Given the description of an element on the screen output the (x, y) to click on. 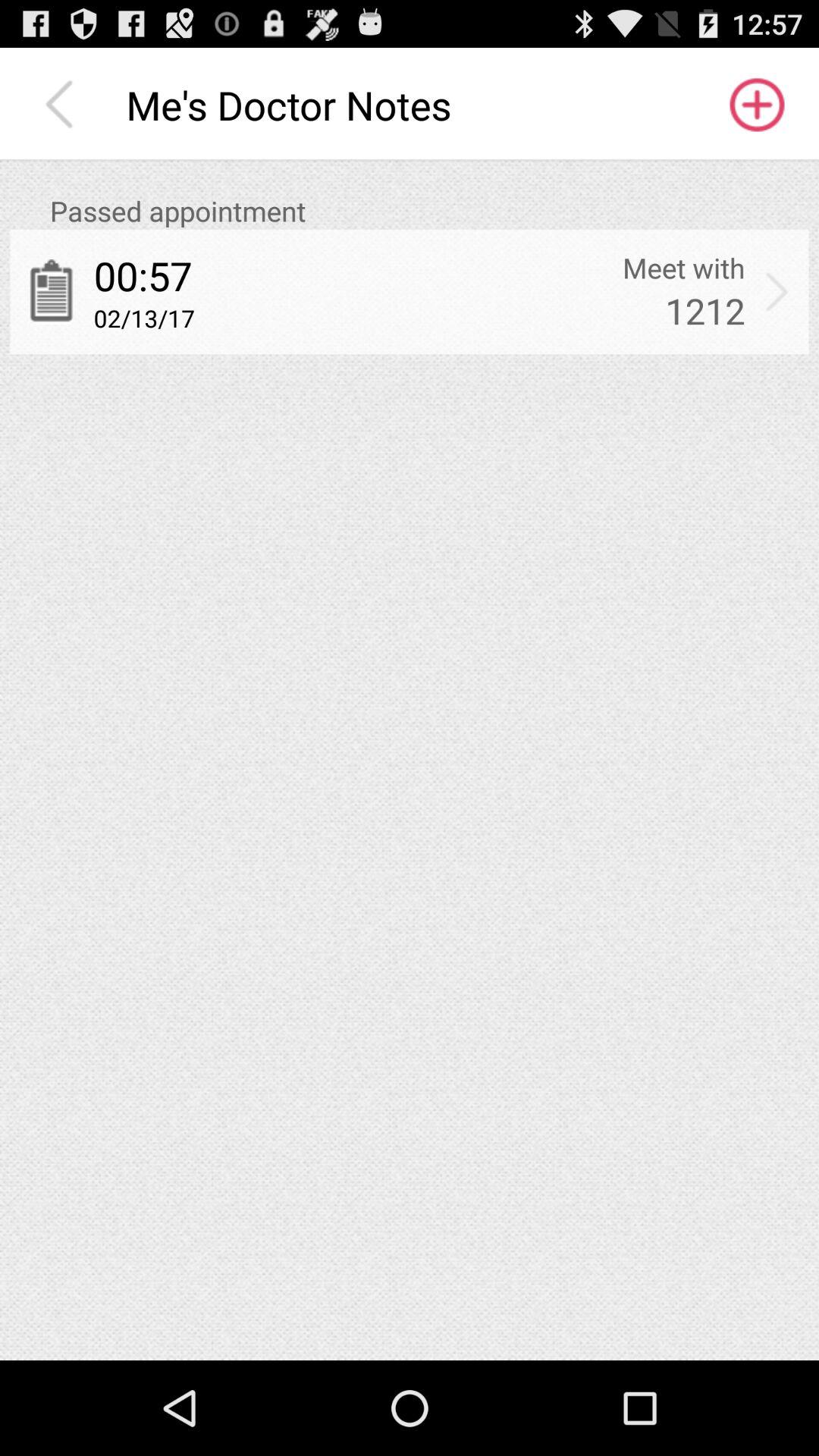
tap the app to the left of meet with app (142, 275)
